Given the description of an element on the screen output the (x, y) to click on. 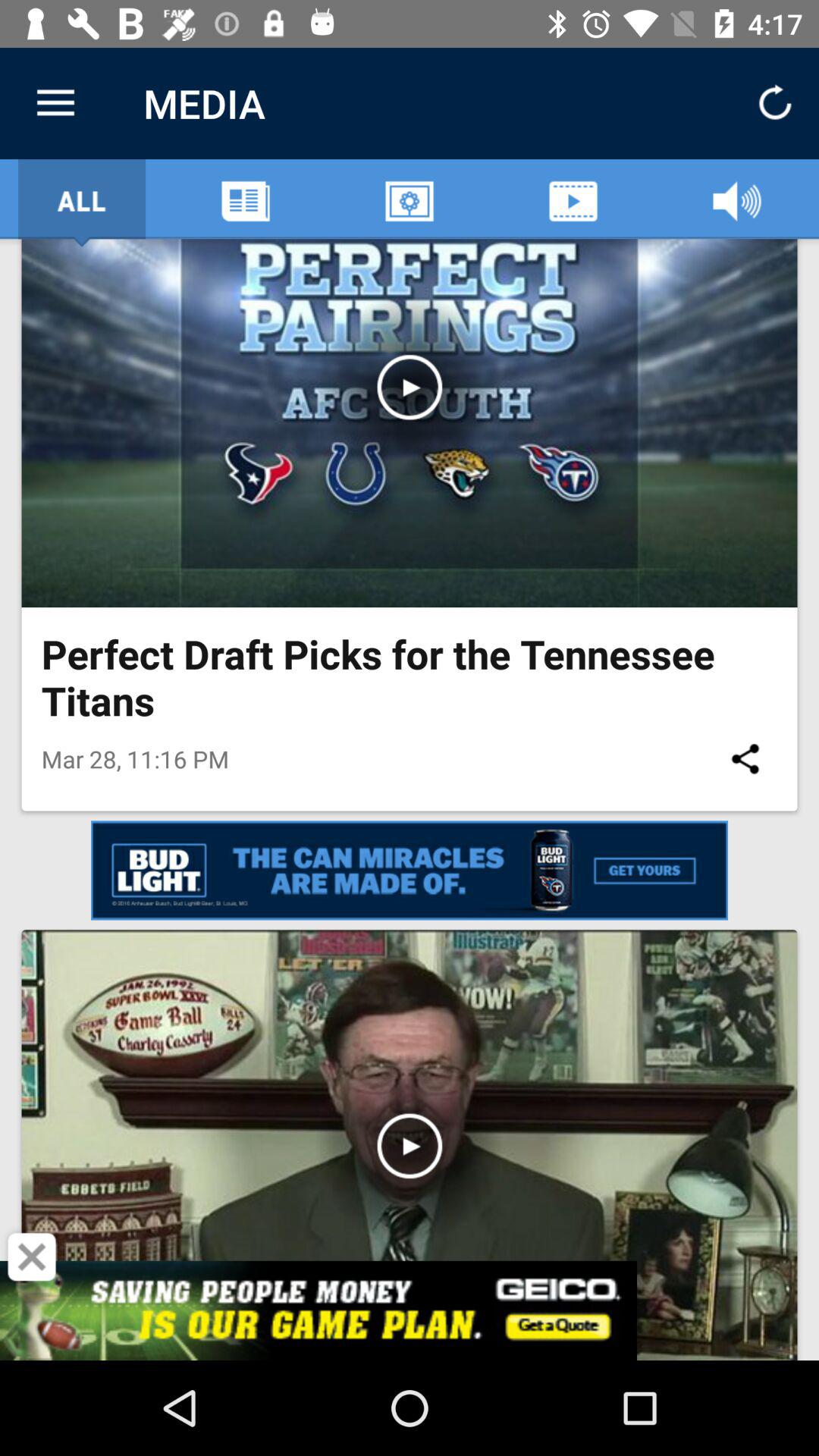
launch the item on the right (745, 758)
